Given the description of an element on the screen output the (x, y) to click on. 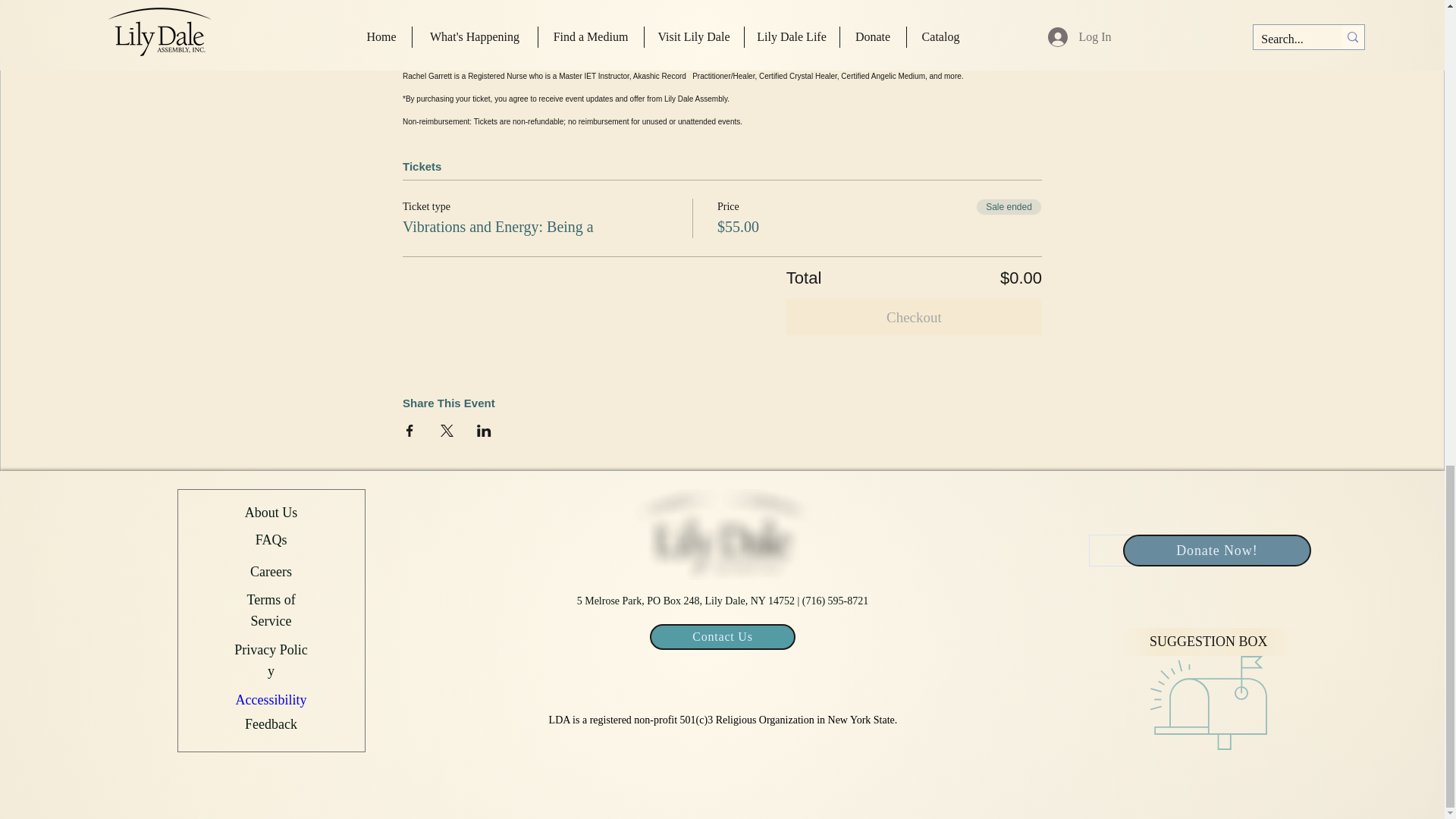
Terms of Service (270, 608)
Privacy Policy (270, 658)
About Us (271, 512)
Accessibility (271, 697)
Checkout (914, 316)
FAQs (271, 539)
Careers (271, 569)
